Given the description of an element on the screen output the (x, y) to click on. 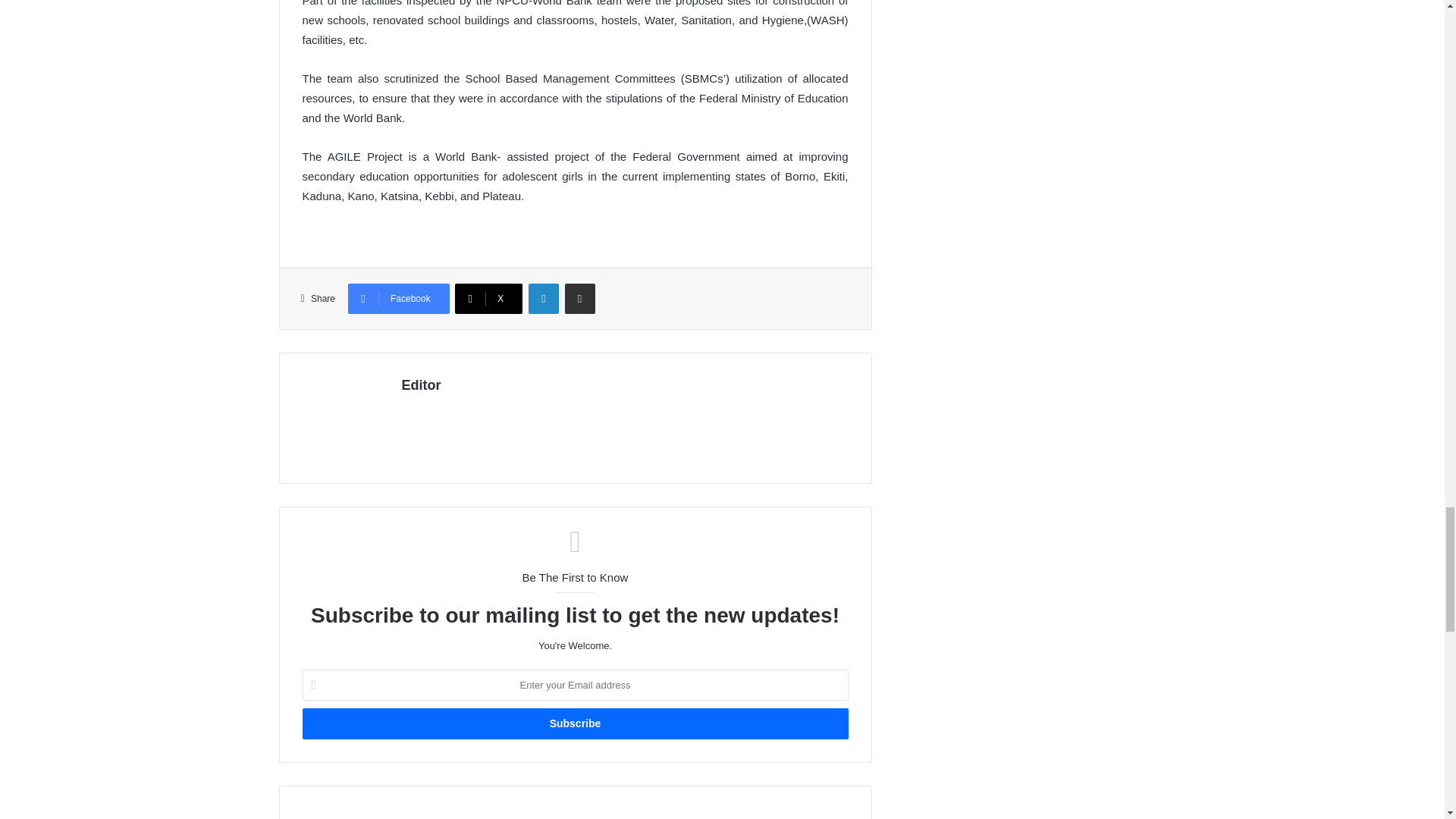
Subscribe (574, 723)
